Given the description of an element on the screen output the (x, y) to click on. 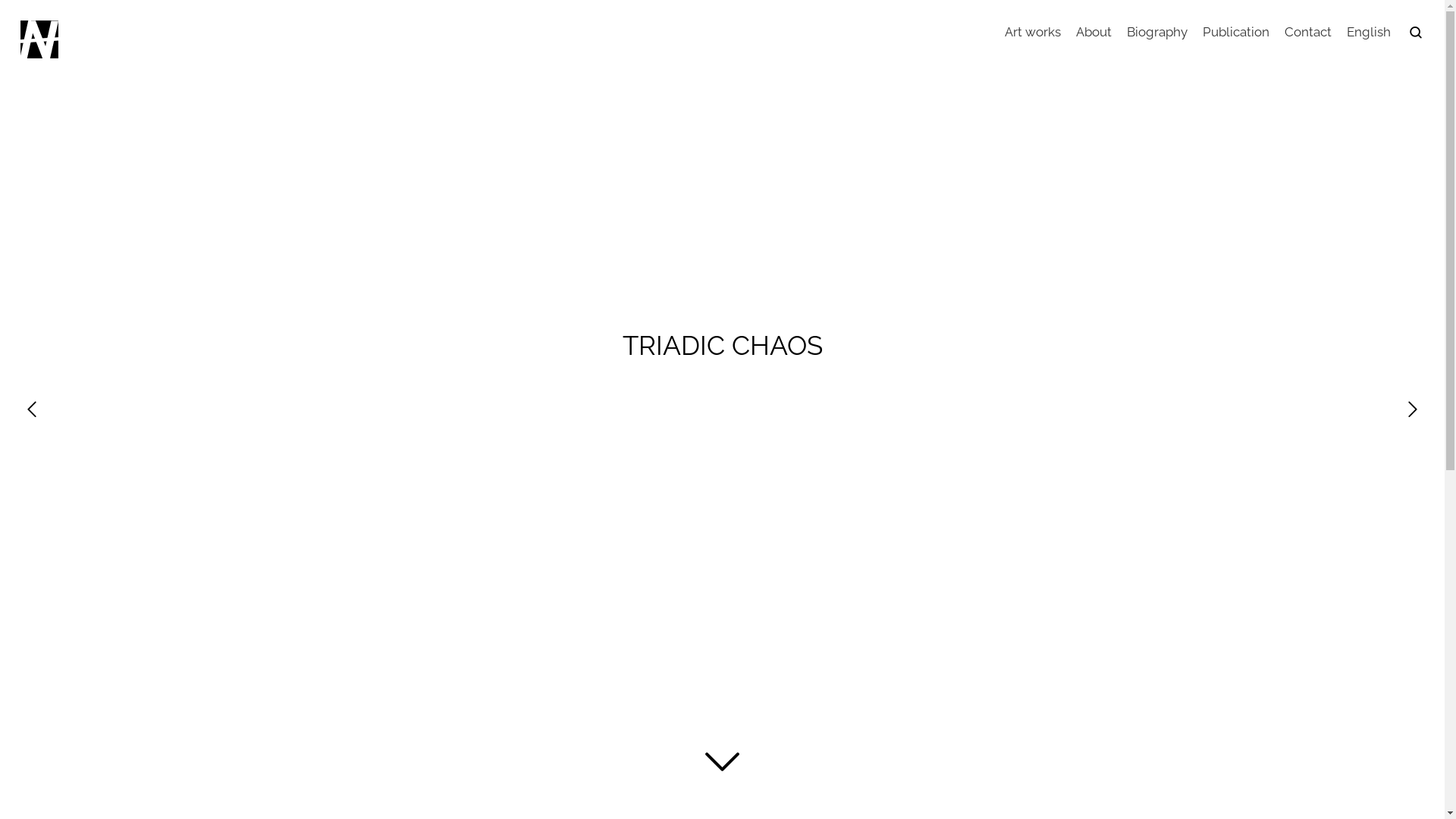
Contact Element type: text (1307, 31)
Biography Element type: text (1156, 31)
English Element type: text (1368, 31)
Artist unit-NAGI Element type: hover (39, 39)
About Element type: text (1093, 31)
Art works Element type: text (1032, 31)
Publication Element type: text (1235, 31)
